Given the description of an element on the screen output the (x, y) to click on. 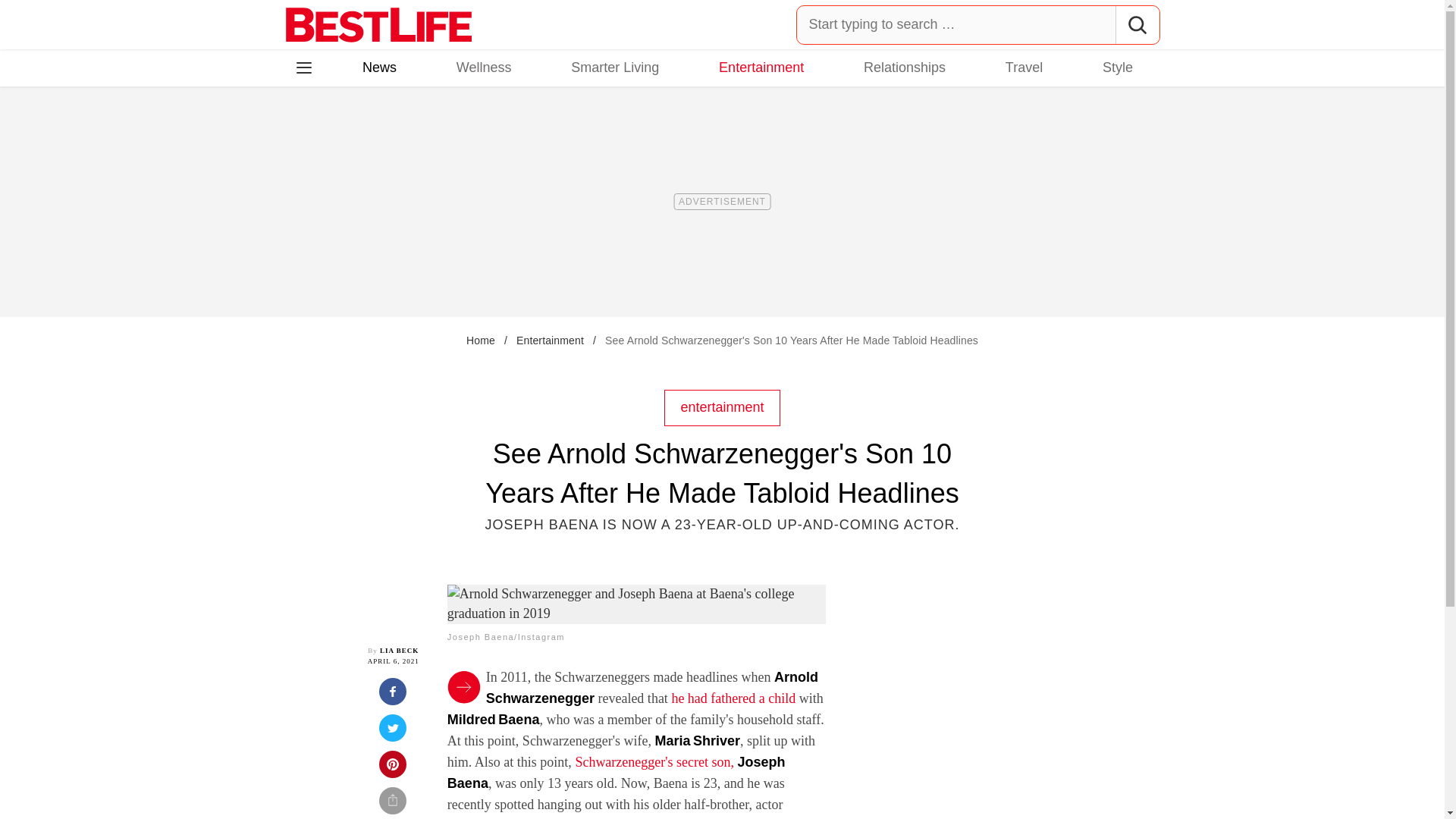
Share on Facebook (392, 696)
he had fathered a child (732, 698)
Share via email (392, 803)
Smarter Living (614, 66)
Home (480, 340)
Travel (1023, 66)
Arnold Schwarzenegger (652, 687)
Entertainment (549, 340)
LIA BECK (399, 650)
Instagram (357, 133)
Share on Twitter (392, 732)
Facebook (314, 133)
Type and press Enter to search (978, 24)
Entertainment (761, 66)
Schwarzenegger's secret son, Joseph Baena (616, 772)
